Given the description of an element on the screen output the (x, y) to click on. 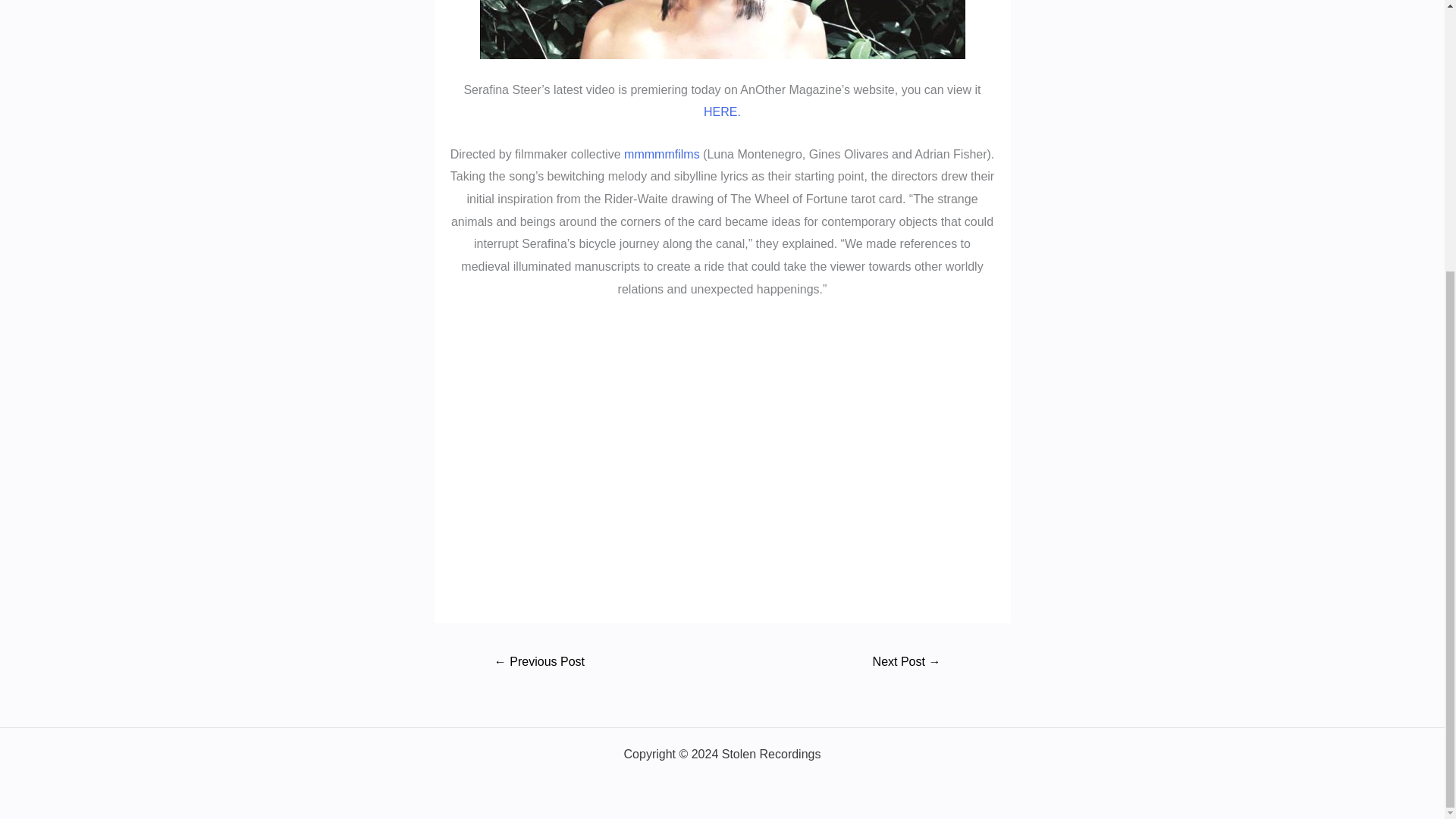
Independent Label Market 13th July (539, 663)
East India Youth (906, 663)
